Given the description of an element on the screen output the (x, y) to click on. 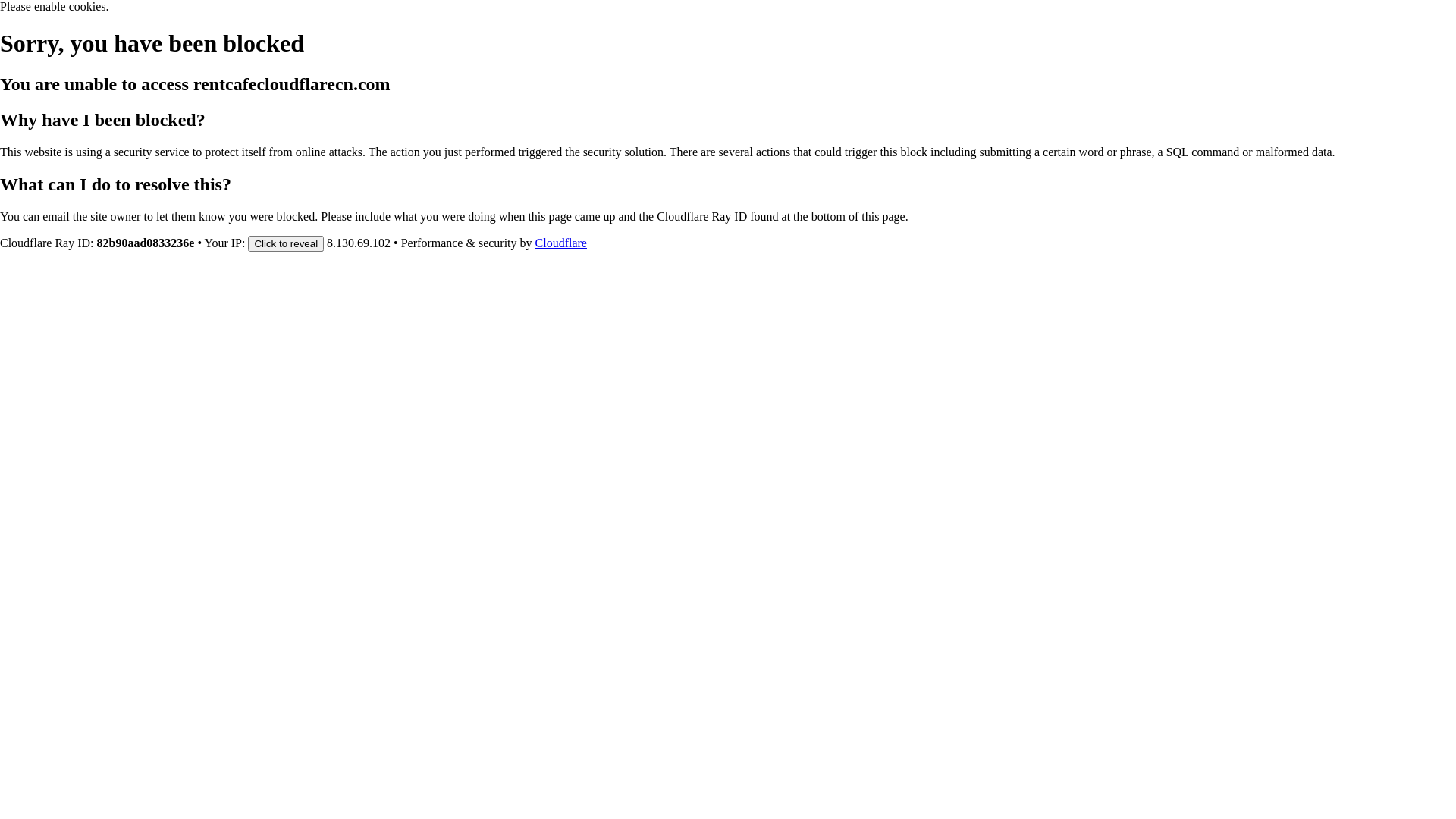
Cloudflare Element type: text (560, 242)
Click to reveal Element type: text (285, 243)
